Given the description of an element on the screen output the (x, y) to click on. 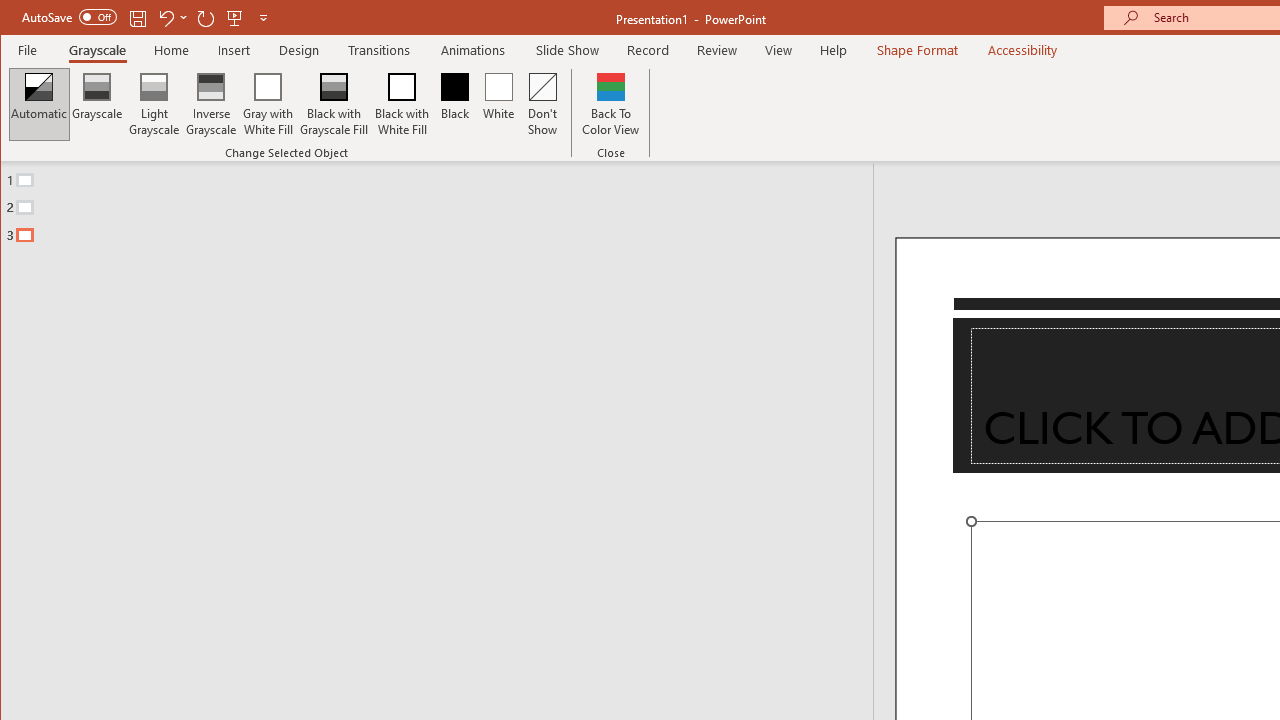
Don't Show (543, 104)
Black with White Fill (402, 104)
